Given the description of an element on the screen output the (x, y) to click on. 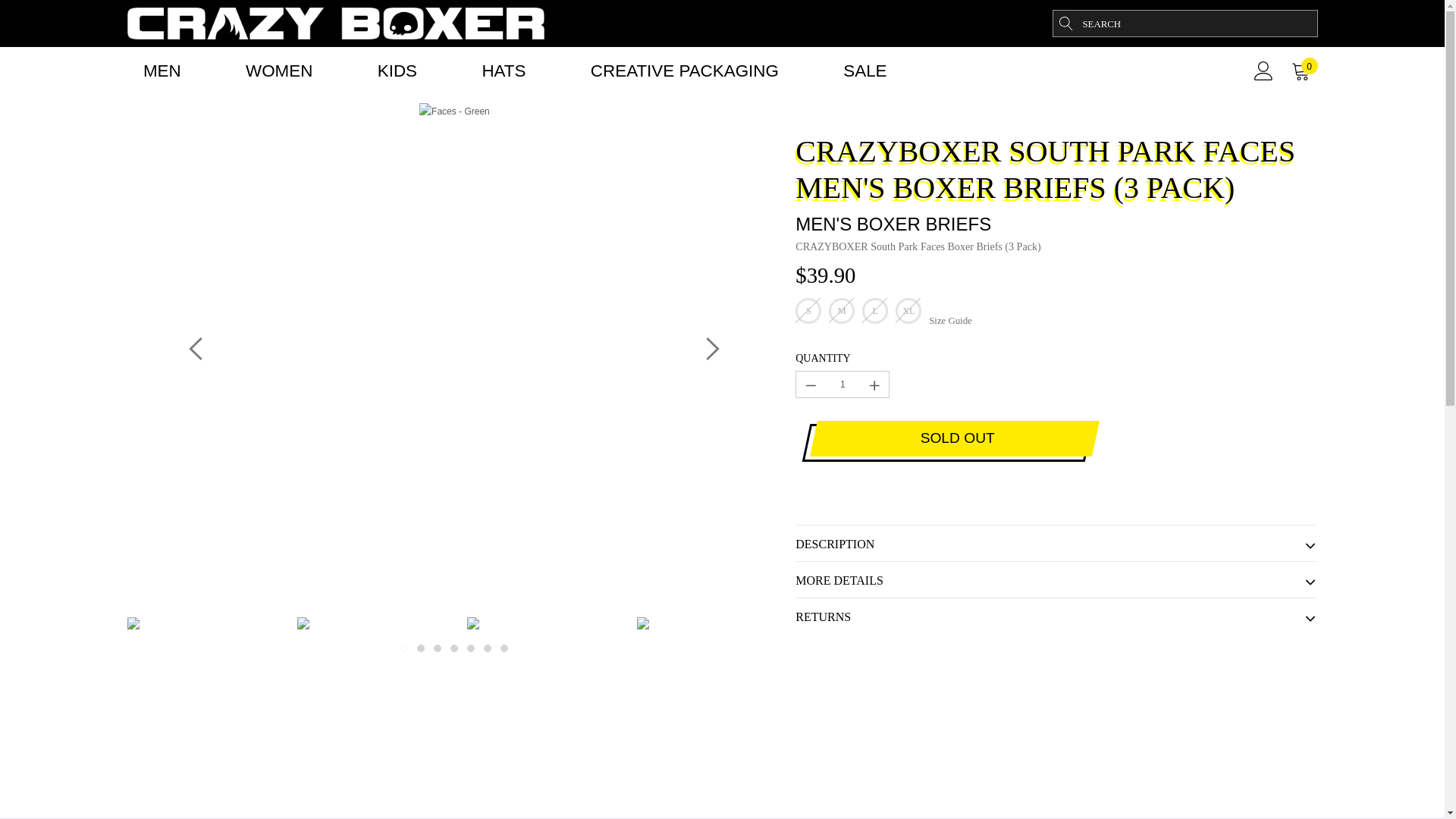
MEN (161, 70)
1 (841, 384)
M (841, 310)
L (874, 310)
search (1065, 23)
S (807, 310)
XL (908, 310)
